Given the description of an element on the screen output the (x, y) to click on. 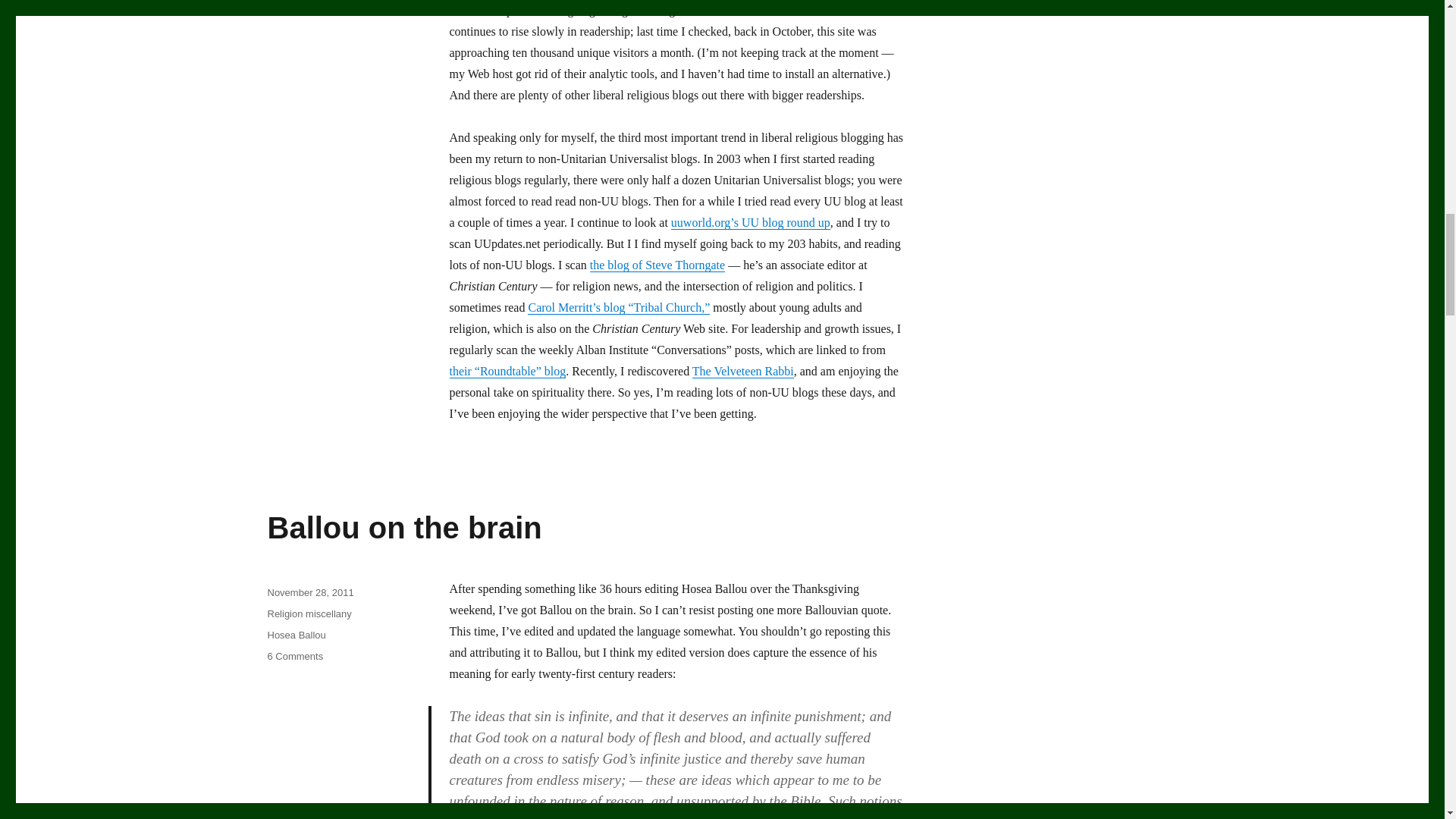
the blog of Steve Thorngate (657, 264)
Ballou on the brain (403, 527)
Hosea Ballou (295, 634)
The Velveteen Rabbi (743, 370)
November 28, 2011 (309, 592)
Religion miscellany (308, 613)
